Given the description of an element on the screen output the (x, y) to click on. 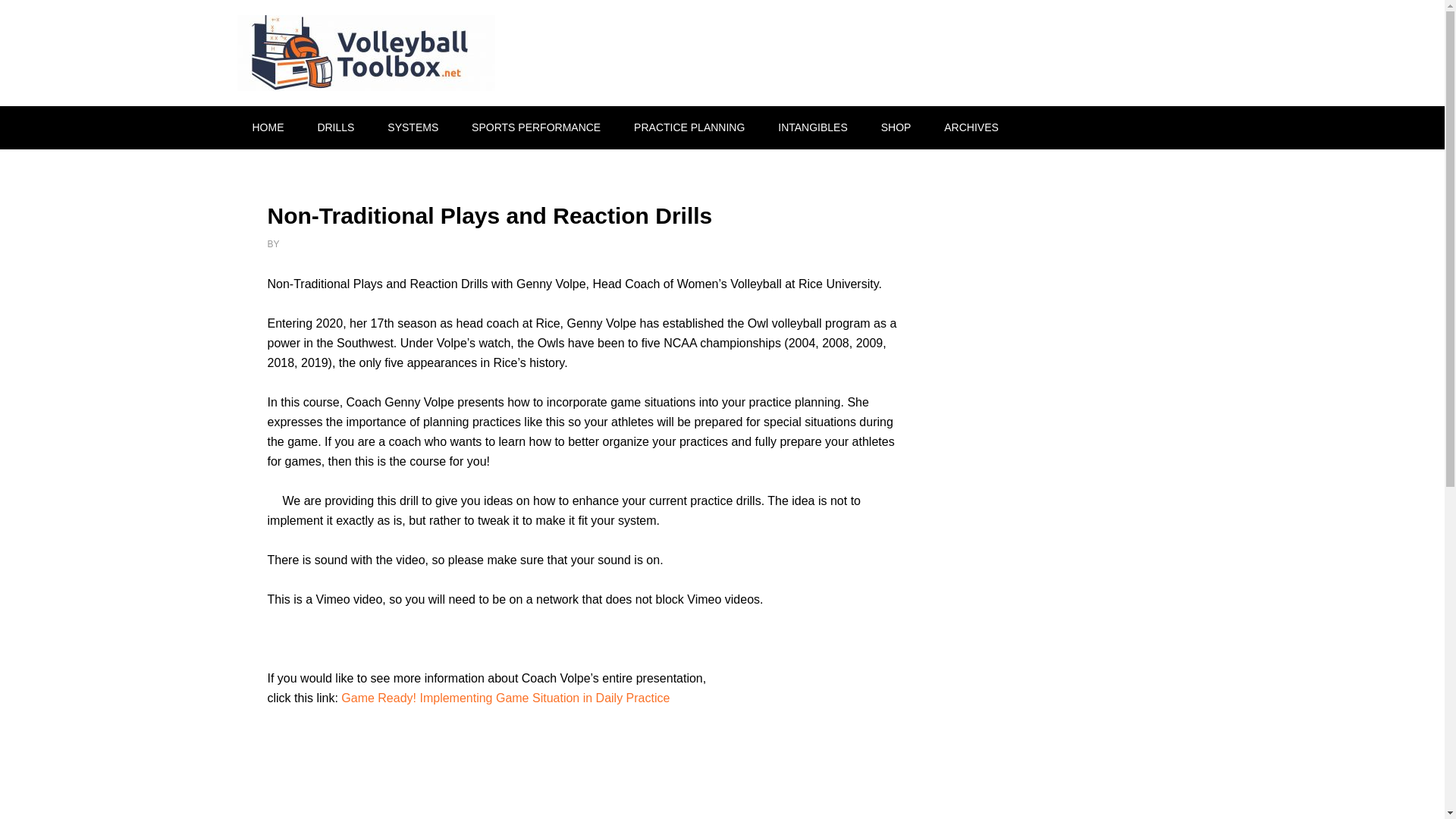
VOLLEYBALL TOOLBOX (365, 52)
SYSTEMS (412, 127)
HOME (266, 127)
DRILLS (335, 127)
PRACTICE PLANNING (689, 127)
ARCHIVES (970, 127)
INTANGIBLES (812, 127)
Game Ready! Implementing Game Situation in Daily Practice (504, 697)
SHOP (896, 127)
SPORTS PERFORMANCE (536, 127)
